Given the description of an element on the screen output the (x, y) to click on. 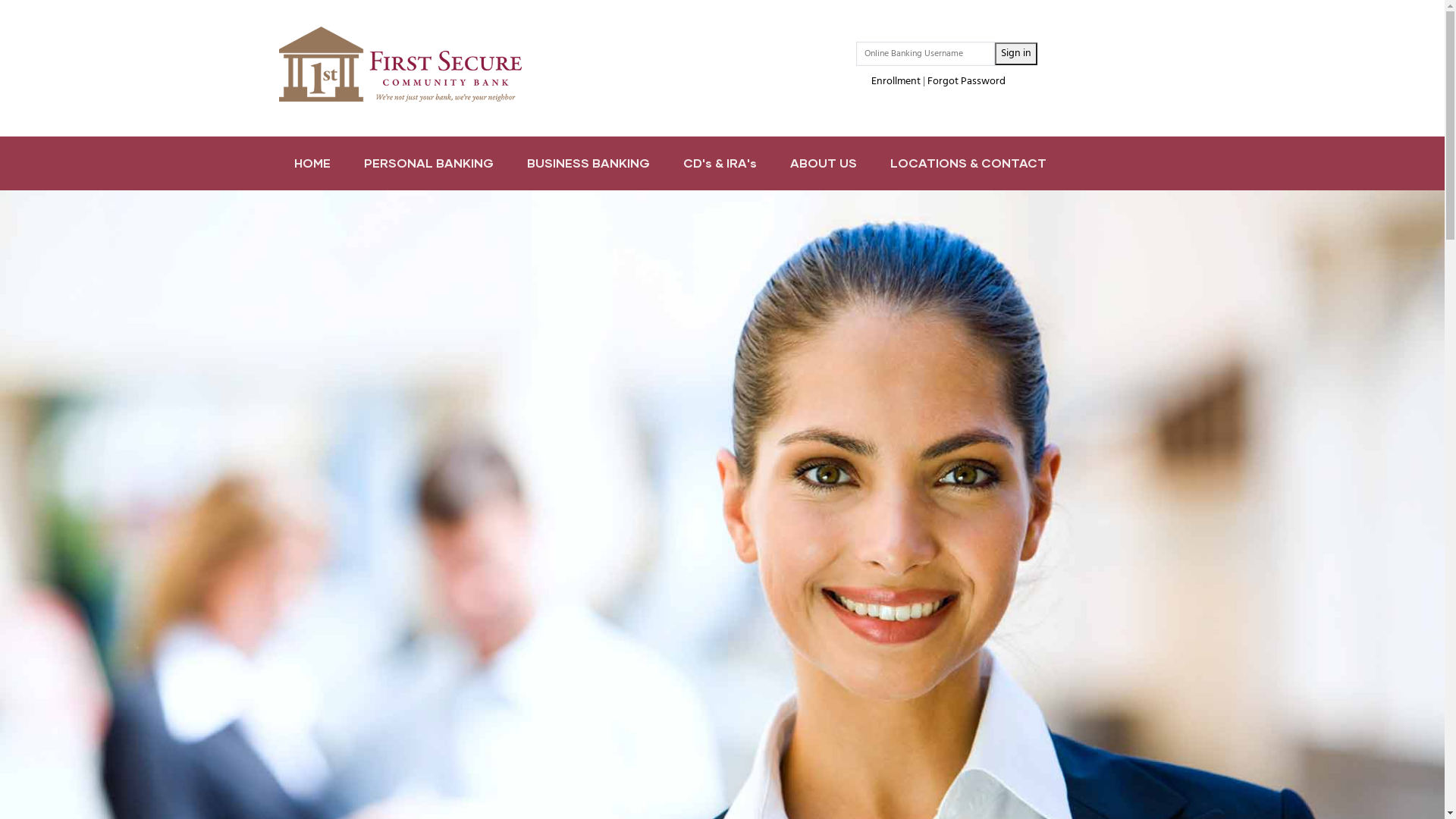
Forgot Password Element type: text (966, 81)
PERSONAL BANKING Element type: text (428, 163)
CD's & IRA's Element type: text (719, 163)
BUSINESS BANKING Element type: text (587, 163)
ABOUT US Element type: text (823, 163)
Sign in Element type: text (1015, 53)
Skip to main content Element type: text (0, 0)
Home Element type: hover (400, 63)
Enrollment Element type: text (895, 81)
LOCATIONS & CONTACT Element type: text (968, 163)
HOME Element type: text (312, 163)
